Given the description of an element on the screen output the (x, y) to click on. 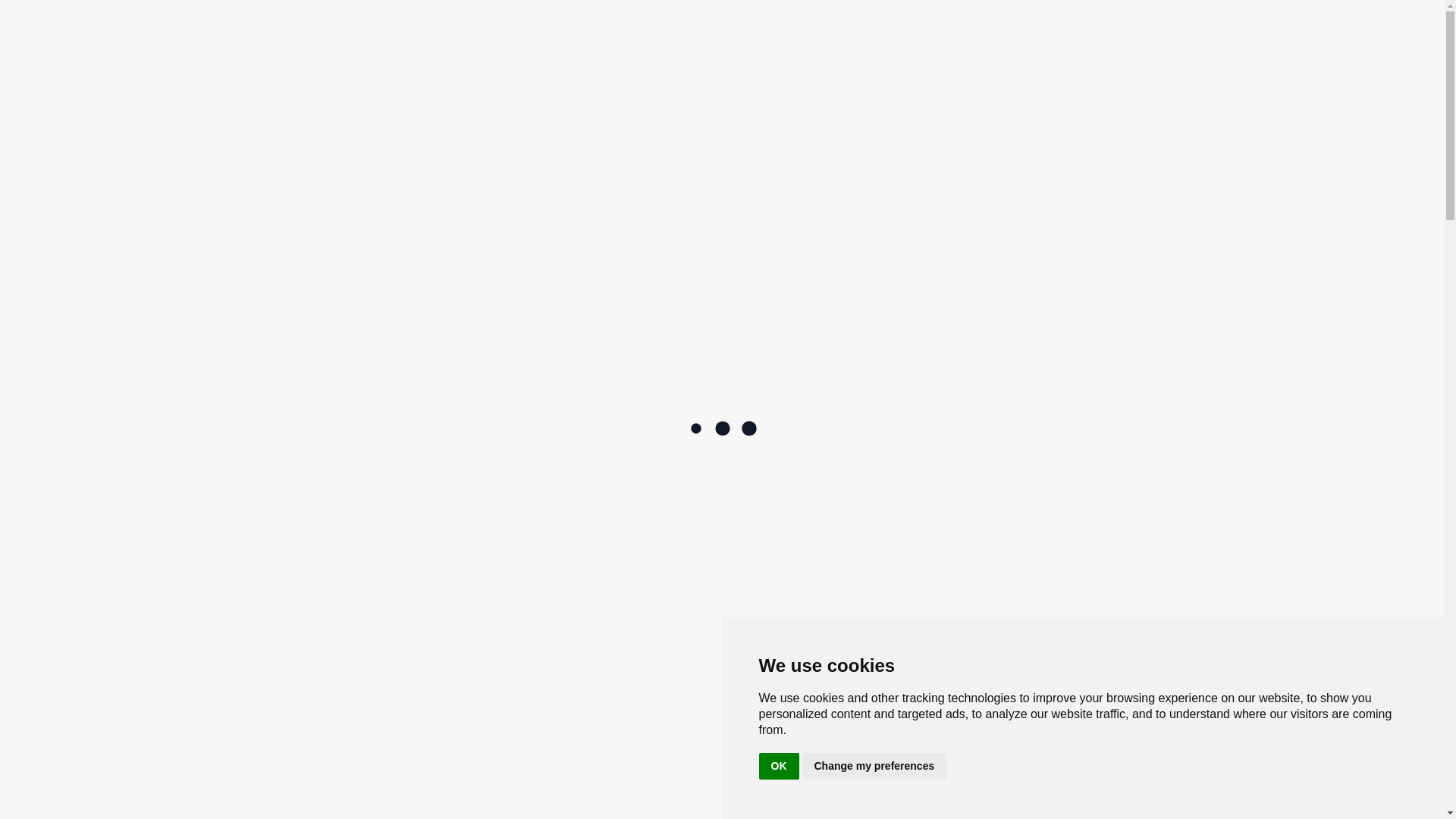
OK (777, 765)
Trouver un consultant HB (1143, 64)
Global Switch (1195, 15)
Change my preferences (874, 765)
CONSULTANTS (445, 138)
